Given the description of an element on the screen output the (x, y) to click on. 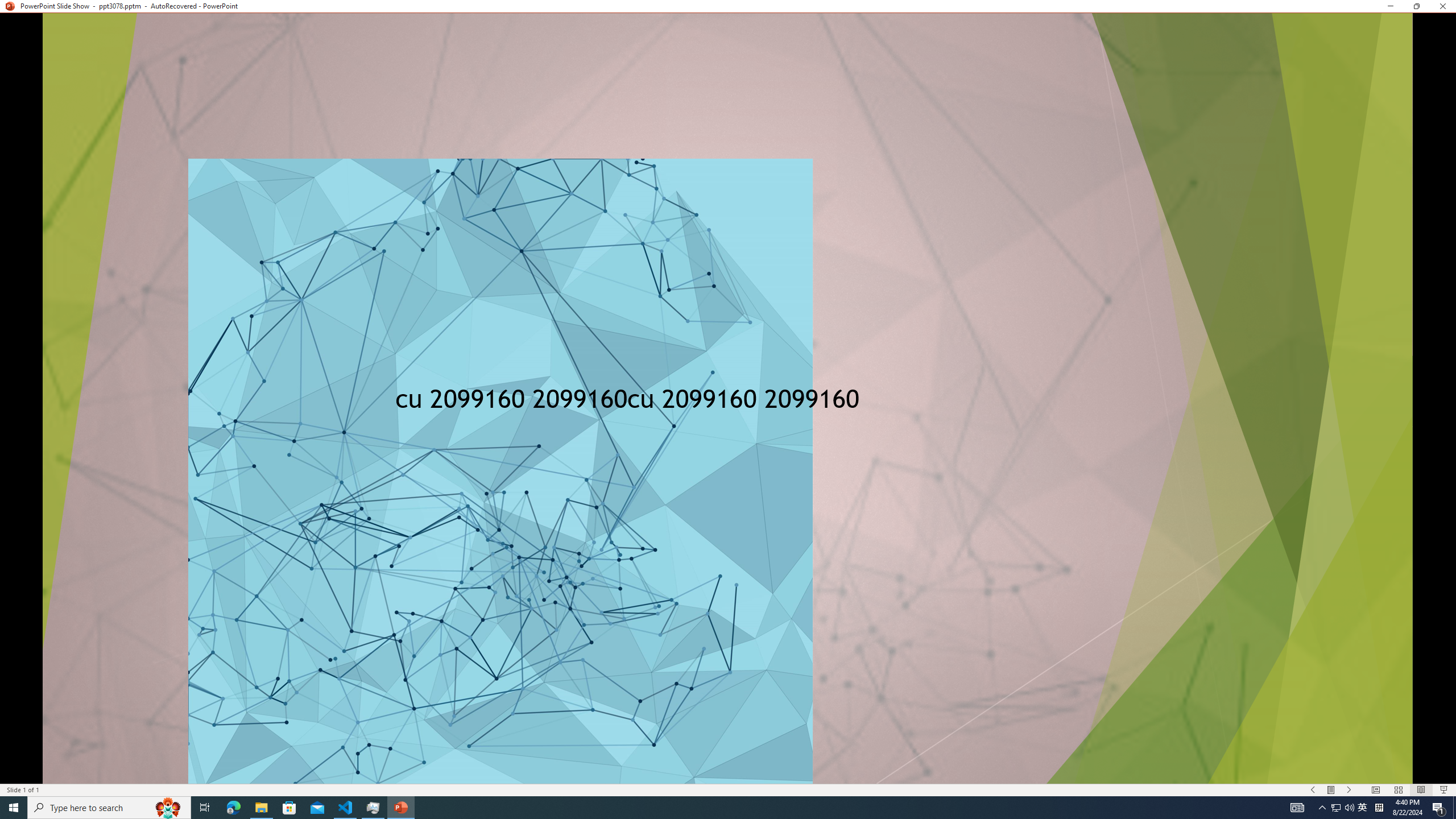
Menu On (1331, 790)
Slide Show Previous On (1313, 790)
Slide Show Next On (1349, 790)
